Given the description of an element on the screen output the (x, y) to click on. 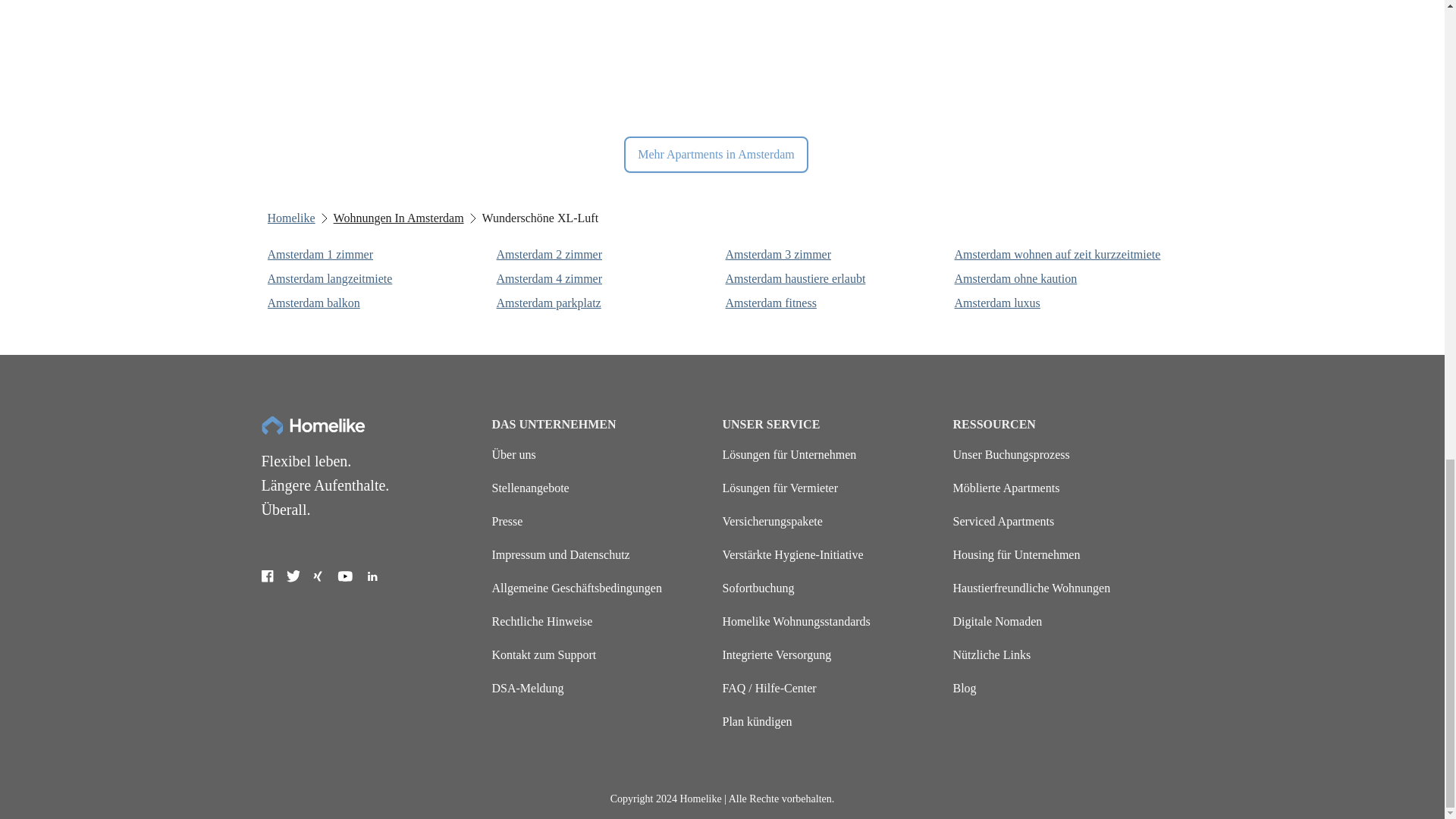
Amsterdam wohnen auf zeit kurzzeitmiete (1064, 254)
Amsterdam 1 zimmer (377, 254)
Amsterdam ohne kaution (1064, 279)
Homelike (290, 218)
Versicherungspakete (772, 521)
DSA-Meldung (527, 687)
Amsterdam balkon (377, 303)
Impressum und Datenschutz (560, 554)
Rechtliche Hinweise (542, 621)
Amsterdam parkplatz (607, 303)
